Given the description of an element on the screen output the (x, y) to click on. 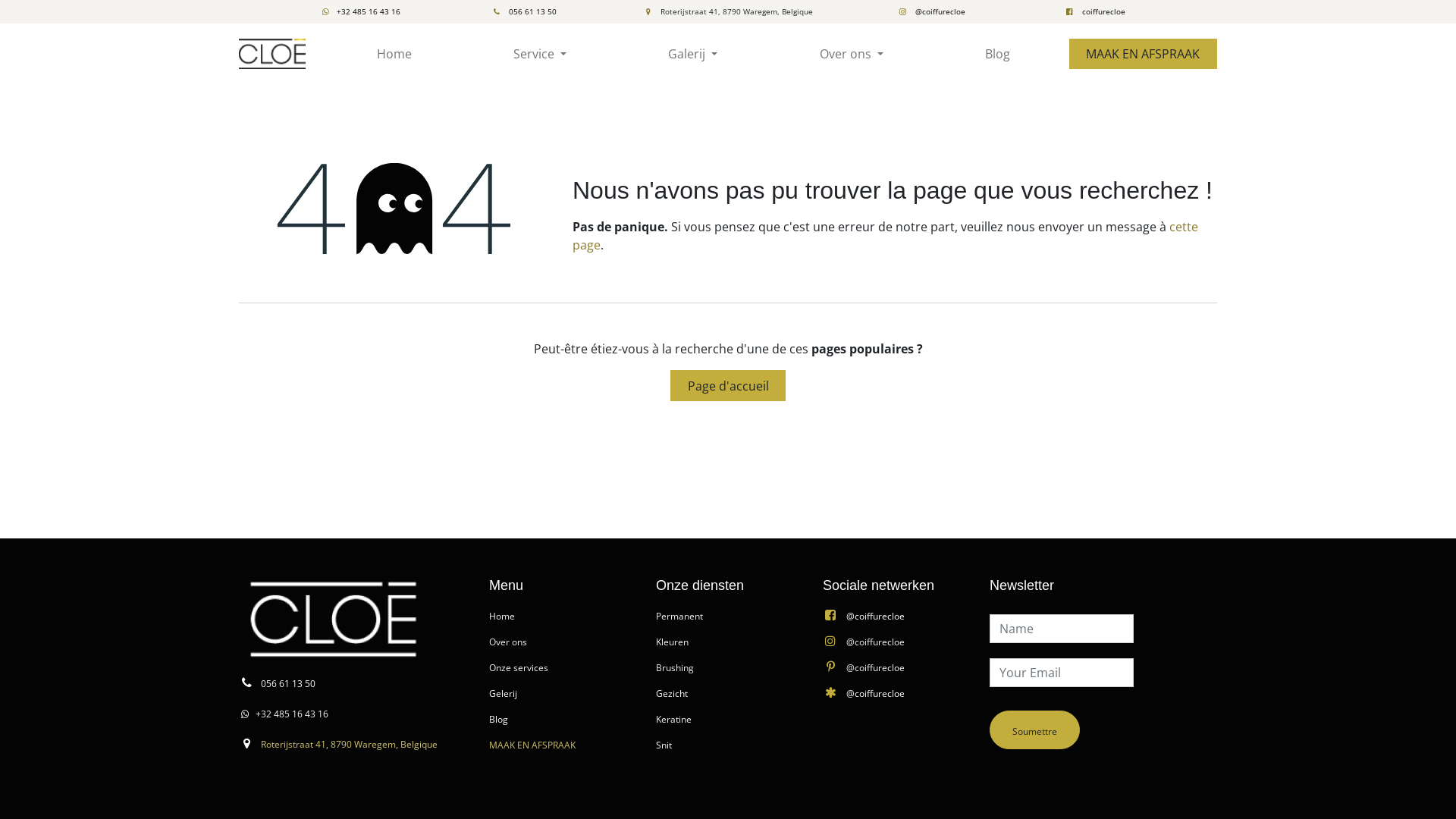
Gezicht Element type: text (671, 692)
coiffurecloe Element type: text (1094, 11)
@coiffurecloe Element type: text (875, 640)
Roterijstraat 41, 8790 Waregem, Belgique Element type: text (727, 11)
Page d'accueil Element type: text (727, 385)
Snit Element type: text (663, 743)
@coiffurecloe Element type: text (875, 666)
MAAK EN AFSPRAAK Element type: text (532, 743)
056 61 13 50 Element type: text (287, 682)
@coiffurecloe Element type: text (931, 11)
Over ons Element type: text (851, 53)
Soumettre Element type: text (1034, 729)
Roterijstraat 41, 8790 Waregem, Belgique Element type: text (348, 742)
Home Element type: text (501, 614)
056 61 13 50 Element type: text (523, 11)
cette page Element type: text (885, 235)
Service Element type: text (539, 53)
Galerij Element type: text (692, 53)
Keratine Element type: text (673, 717)
@coiffurecloe Element type: text (875, 614)
MAAK EN AFSPRAAK Element type: text (1143, 53)
Permanent Element type: text (678, 614)
Blog Element type: text (498, 717)
Blog Element type: text (997, 53)
+32 485 16 43 16 Element type: text (361, 11)
Home Element type: text (393, 53)
Cloe Element type: hover (271, 53)
Brushing Element type: text (674, 666)
Over ons Element type: text (508, 640)
+32 485 16 43 16 Element type: text (291, 713)
Gelerij Element type: text (503, 692)
@coiffurecloe Element type: text (875, 692)
Kleuren Element type: text (671, 640)
